Given the description of an element on the screen output the (x, y) to click on. 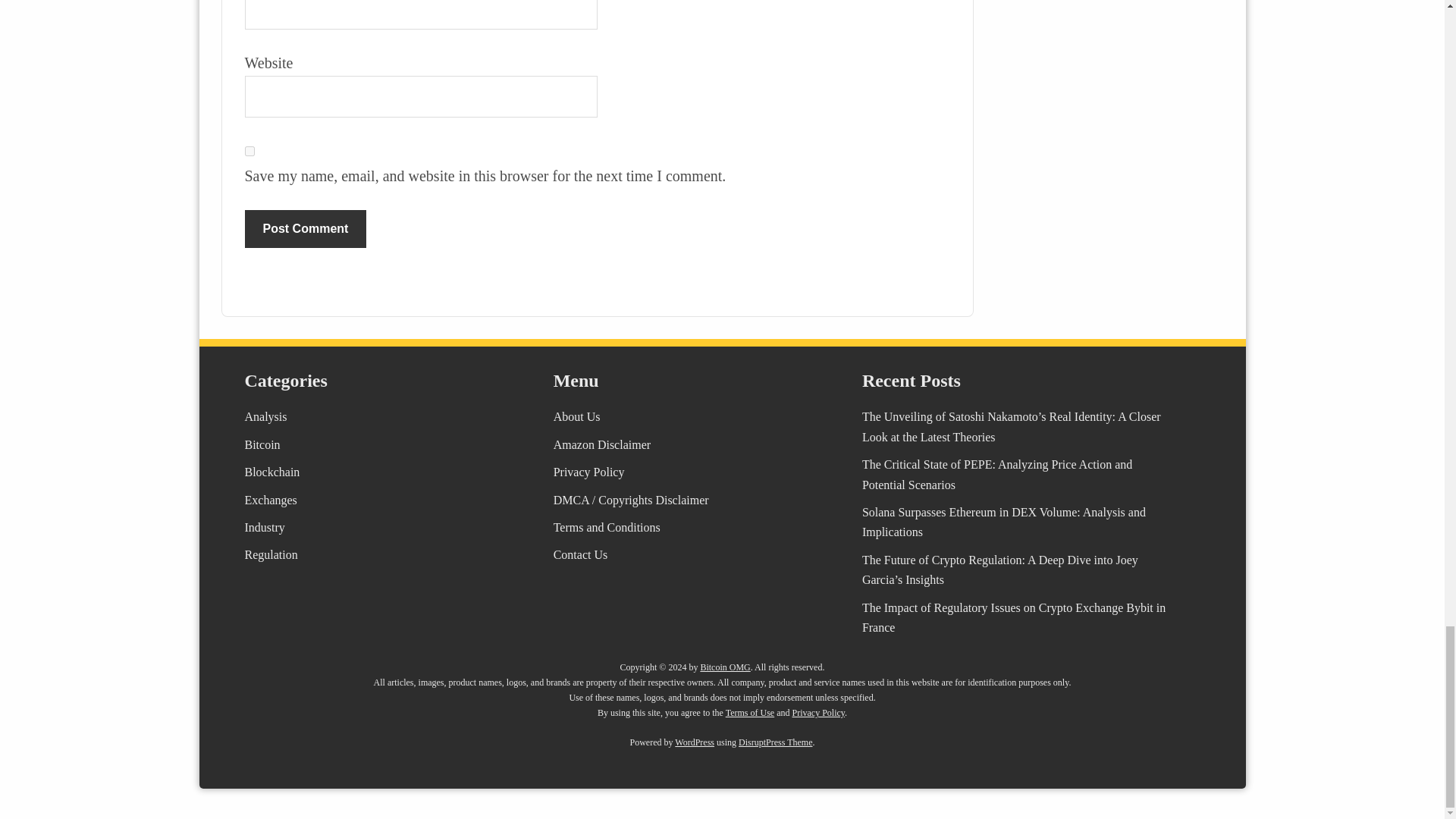
Post Comment (305, 228)
yes (248, 151)
